Given the description of an element on the screen output the (x, y) to click on. 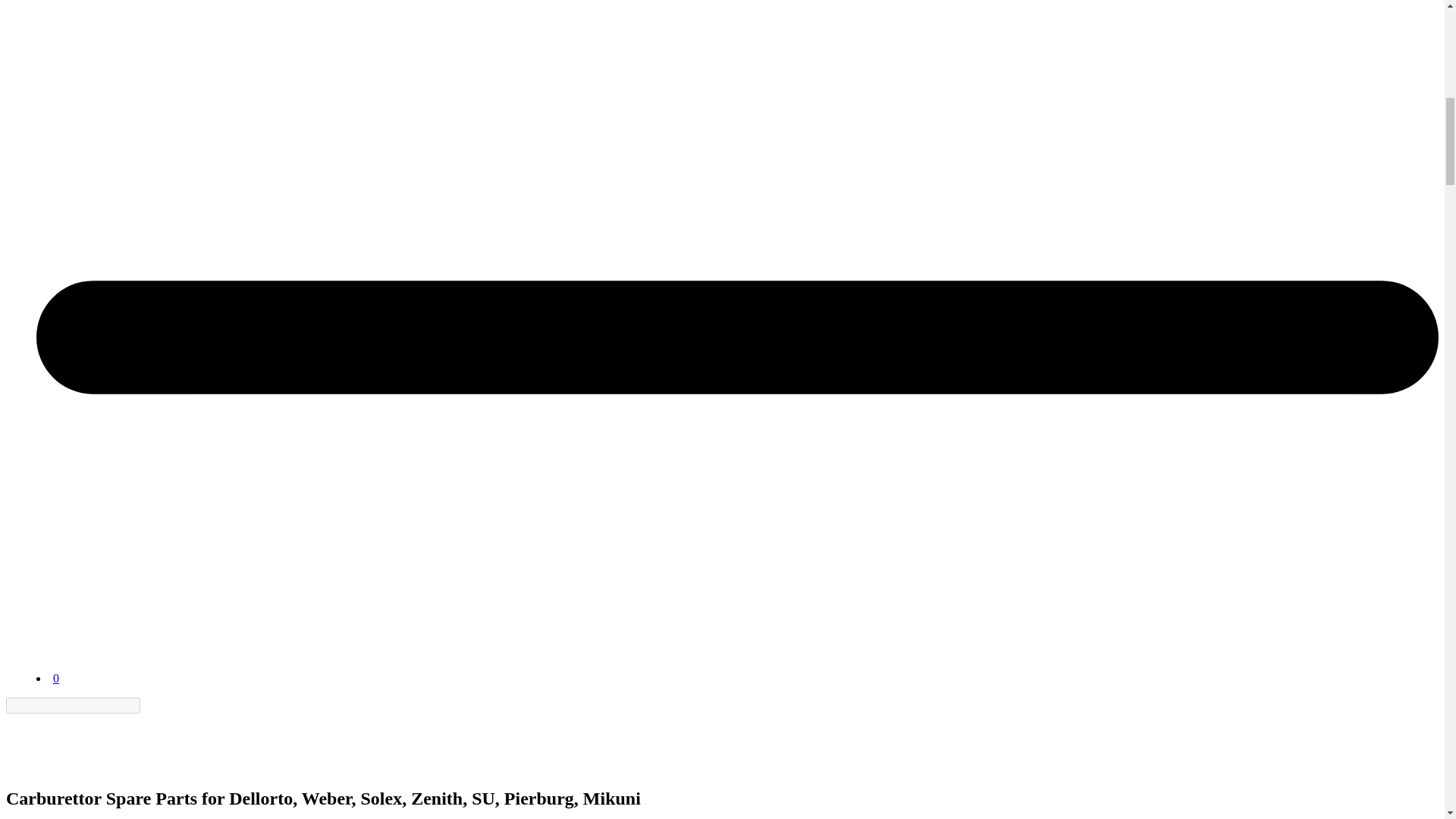
Dellorto Shop Carburettor Shop Ricambi Carburatori (74, 664)
Find (148, 705)
Dellorto Shop Carburettor Shop Ricambi Carburatori (74, 640)
Dellorto Shop Carburettor Shop Ricambi Carburatori (43, 766)
Dellorto Shop Carburettor Shop Ricambi Carburatori (43, 741)
